Given the description of an element on the screen output the (x, y) to click on. 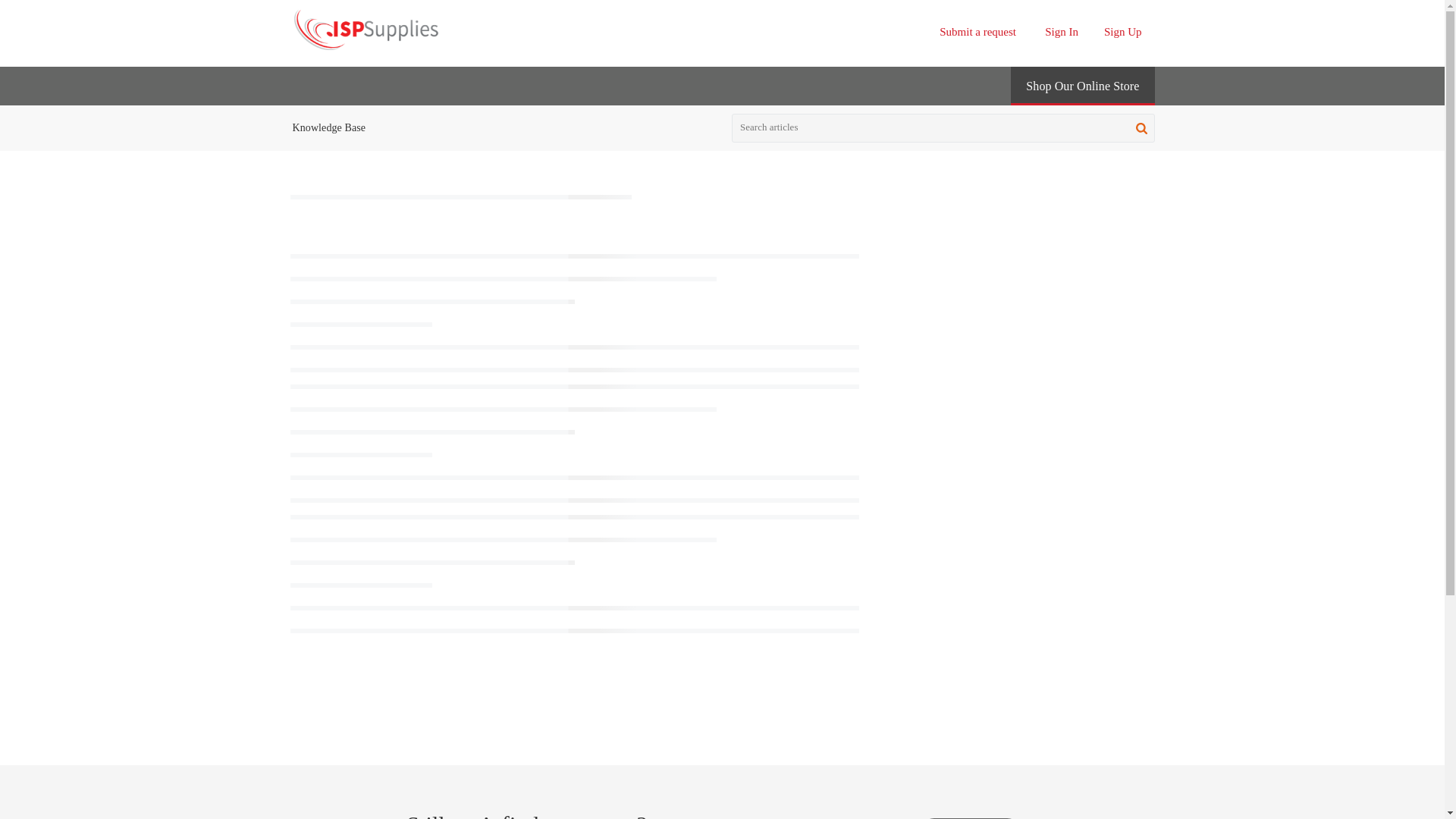
Submit a request (977, 31)
Sign In (1061, 31)
Knowledge Base (329, 127)
Shop Our Online Store (1082, 85)
Sign Up (1122, 31)
